Given the description of an element on the screen output the (x, y) to click on. 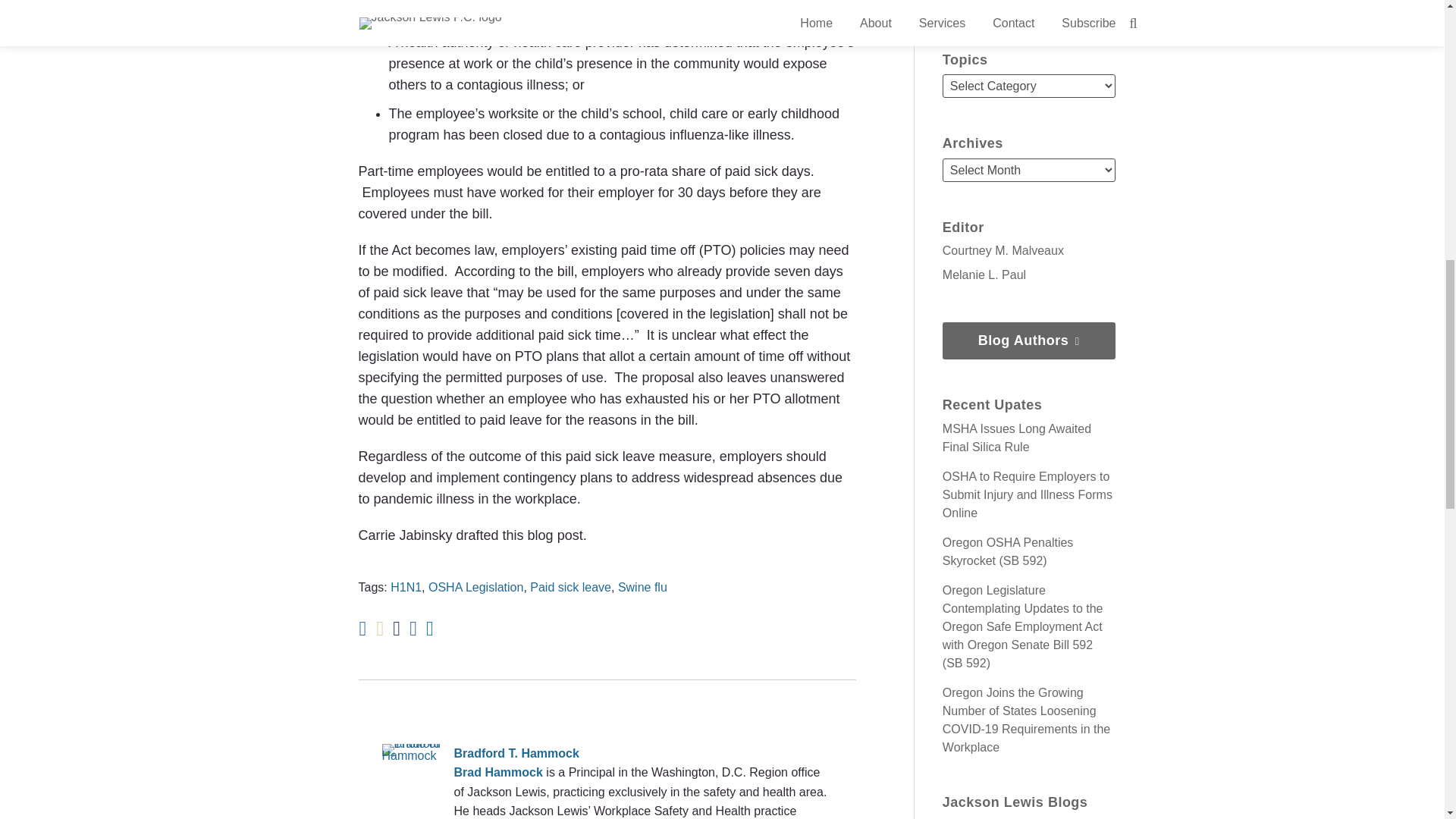
Melanie L. Paul (984, 274)
Swine flu (641, 586)
Courtney M. Malveaux (1003, 250)
H1N1 (406, 586)
Subscribe (1028, 4)
Paid sick leave (570, 586)
OSHA Legislation (475, 586)
Bradford T. Hammock (606, 753)
Subscribe (1028, 4)
Brad Hammock (496, 771)
